Given the description of an element on the screen output the (x, y) to click on. 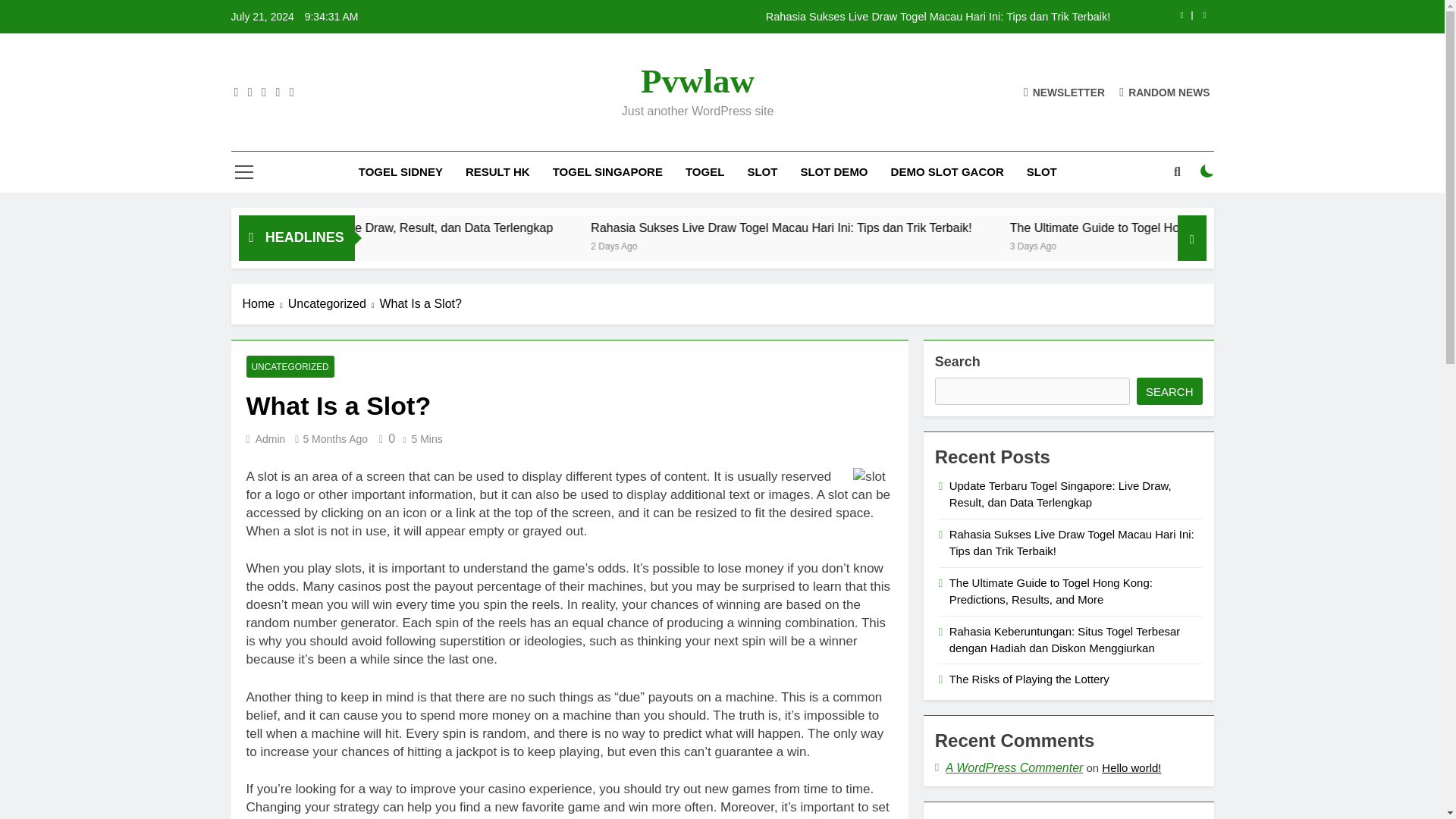
SLOT (762, 171)
DEMO SLOT GACOR (946, 171)
NEWSLETTER (1064, 91)
RANDOM NEWS (1164, 91)
on (1206, 171)
SLOT (1041, 171)
1 Day Ago (347, 245)
Pvwlaw (697, 80)
2 Days Ago (778, 245)
RESULT HK (497, 171)
TOGEL SINGAPORE (607, 171)
